Given the description of an element on the screen output the (x, y) to click on. 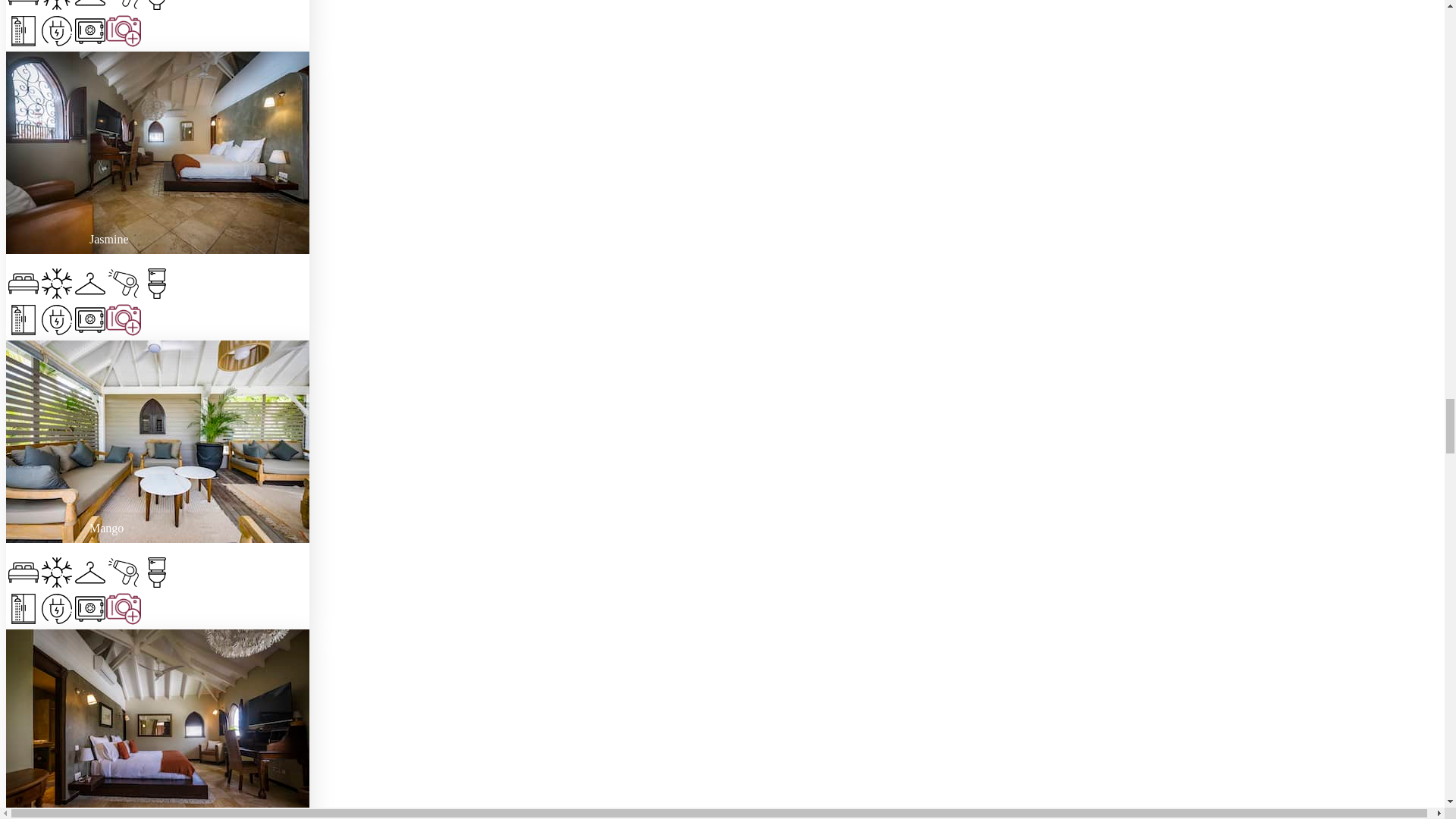
King size (23, 573)
Shower (23, 610)
Shower (23, 32)
King size (23, 284)
Shower (23, 321)
King size (23, 6)
